Given the description of an element on the screen output the (x, y) to click on. 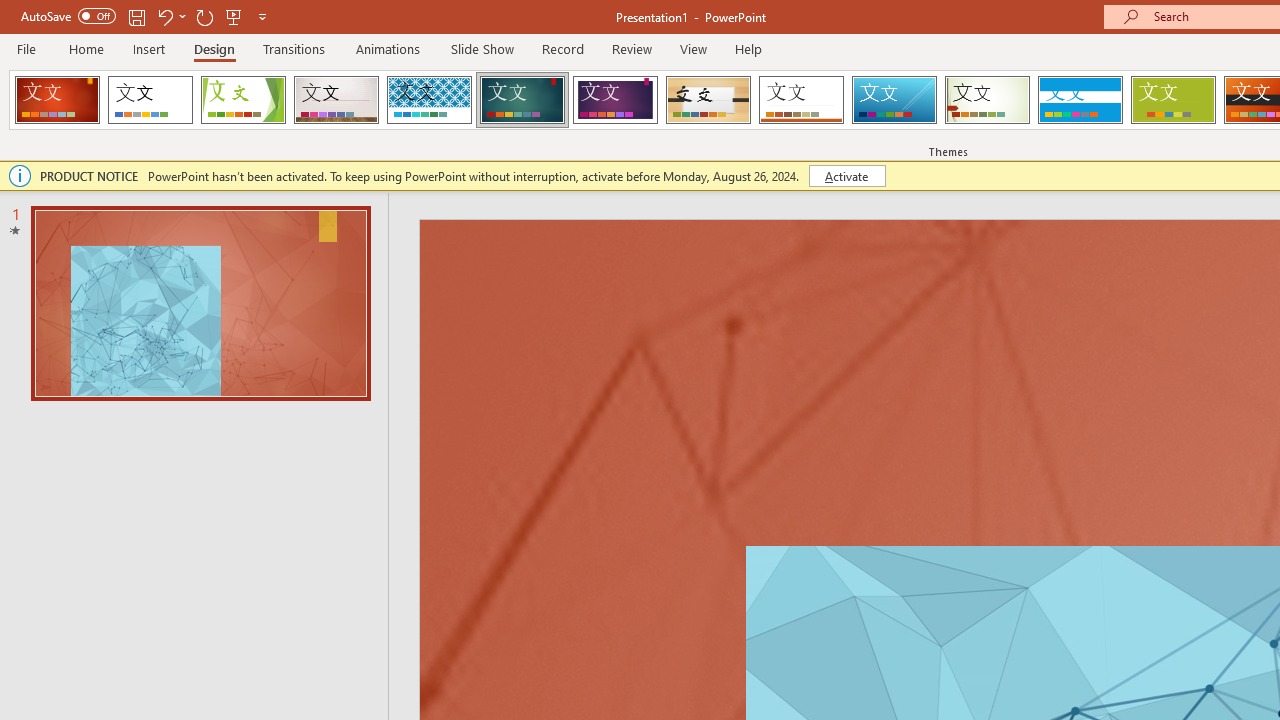
Banded (1080, 100)
Slice (893, 100)
Activate (846, 175)
Gallery (336, 100)
Retrospect (801, 100)
Ion (522, 100)
